Given the description of an element on the screen output the (x, y) to click on. 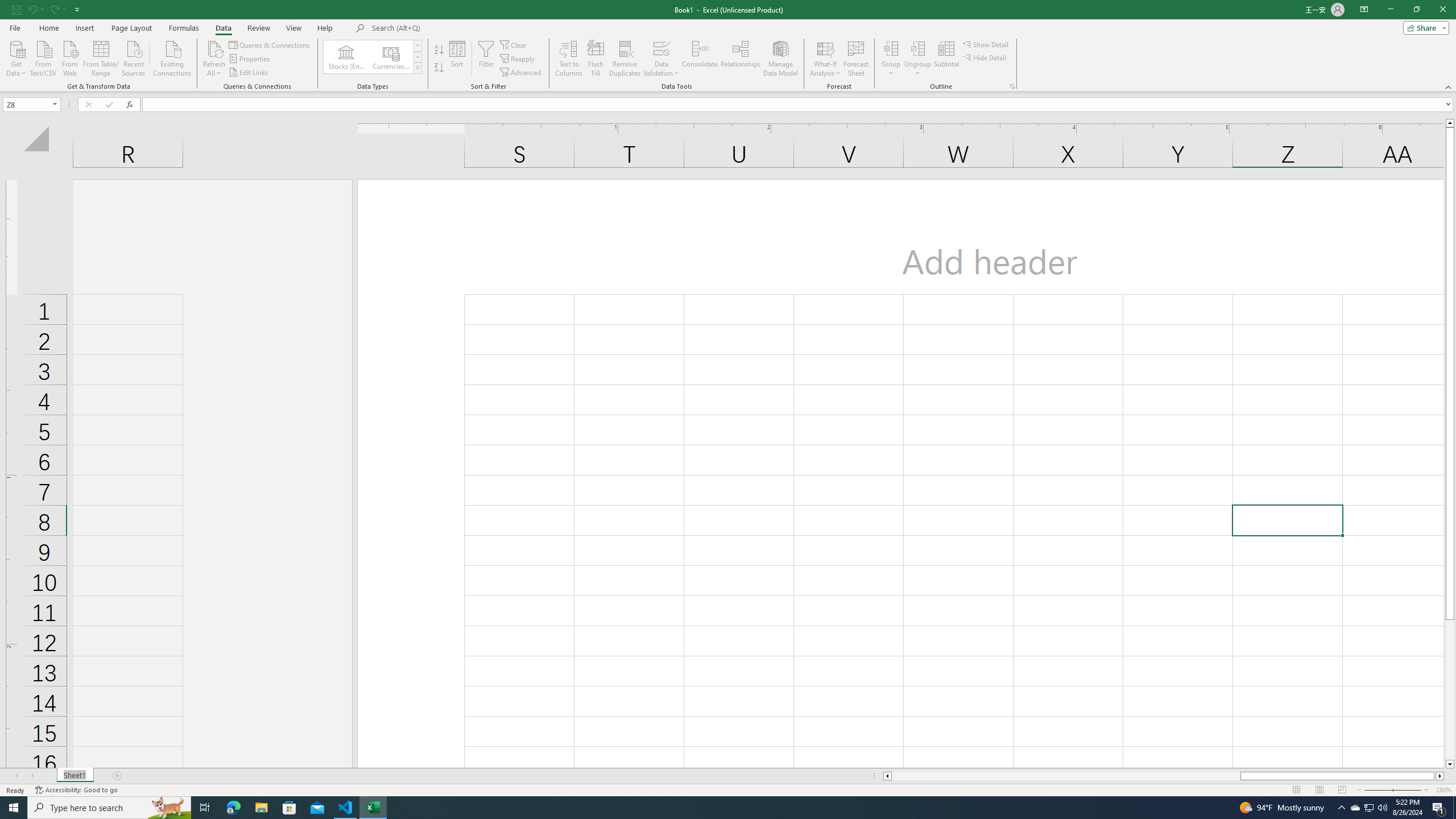
Remove Duplicates (625, 58)
Reapply (517, 58)
Row Down (417, 56)
Page down (1449, 689)
Properties (250, 58)
Save (16, 9)
Manage Data Model (780, 58)
Recent Sources (133, 57)
Close (1442, 9)
Microsoft search (450, 28)
Currencies (English) (390, 56)
Zoom Out (1385, 790)
Open (54, 104)
From Table/Range (100, 57)
Normal (1296, 790)
